Given the description of an element on the screen output the (x, y) to click on. 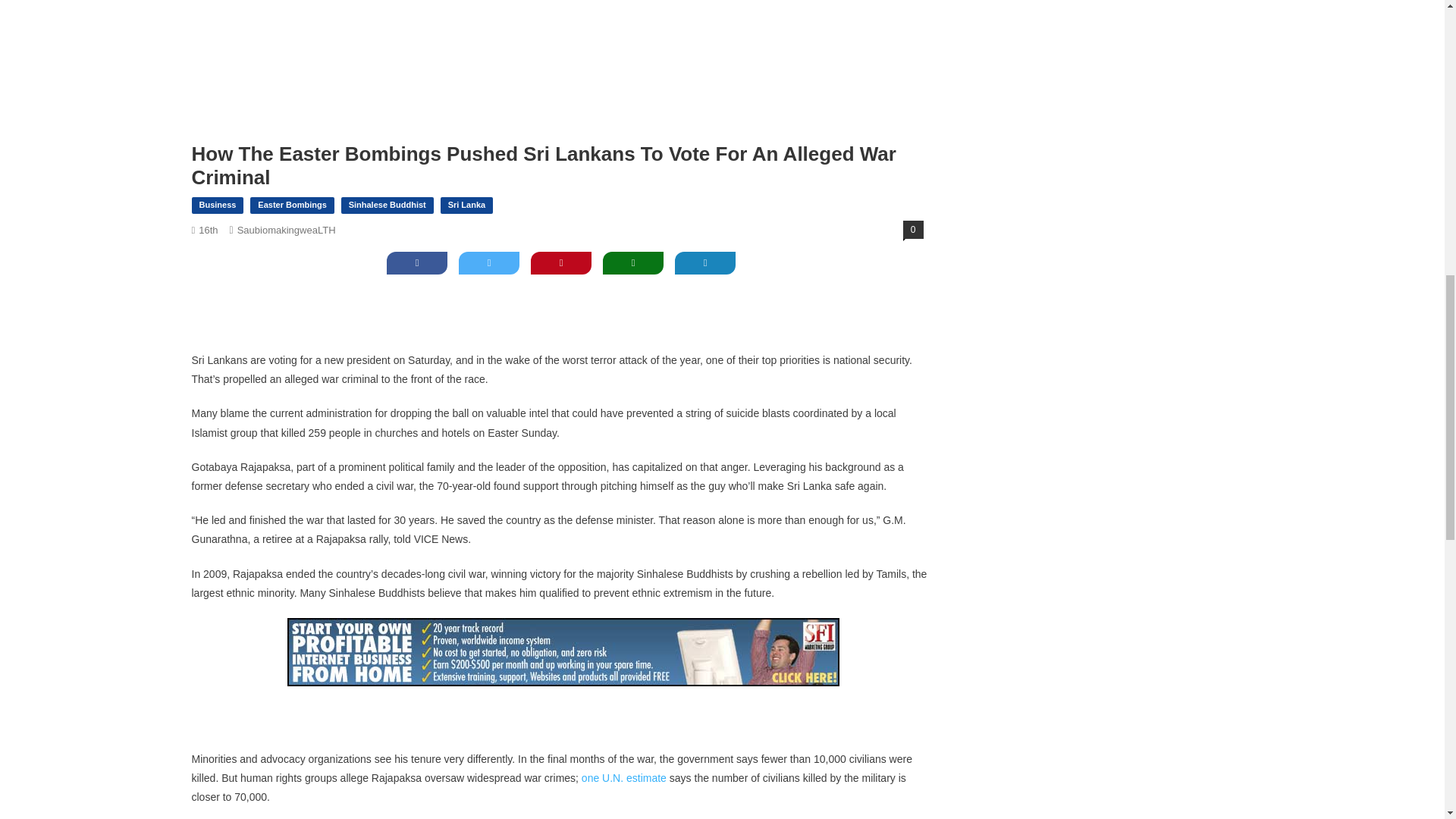
16th (207, 229)
Sinhalese Buddhist (386, 205)
one U.N. estimate (623, 777)
Business (216, 205)
0 (912, 229)
Easter Bombings (291, 205)
SaubiomakingweaLTH (286, 229)
Sri Lanka (467, 205)
